Given the description of an element on the screen output the (x, y) to click on. 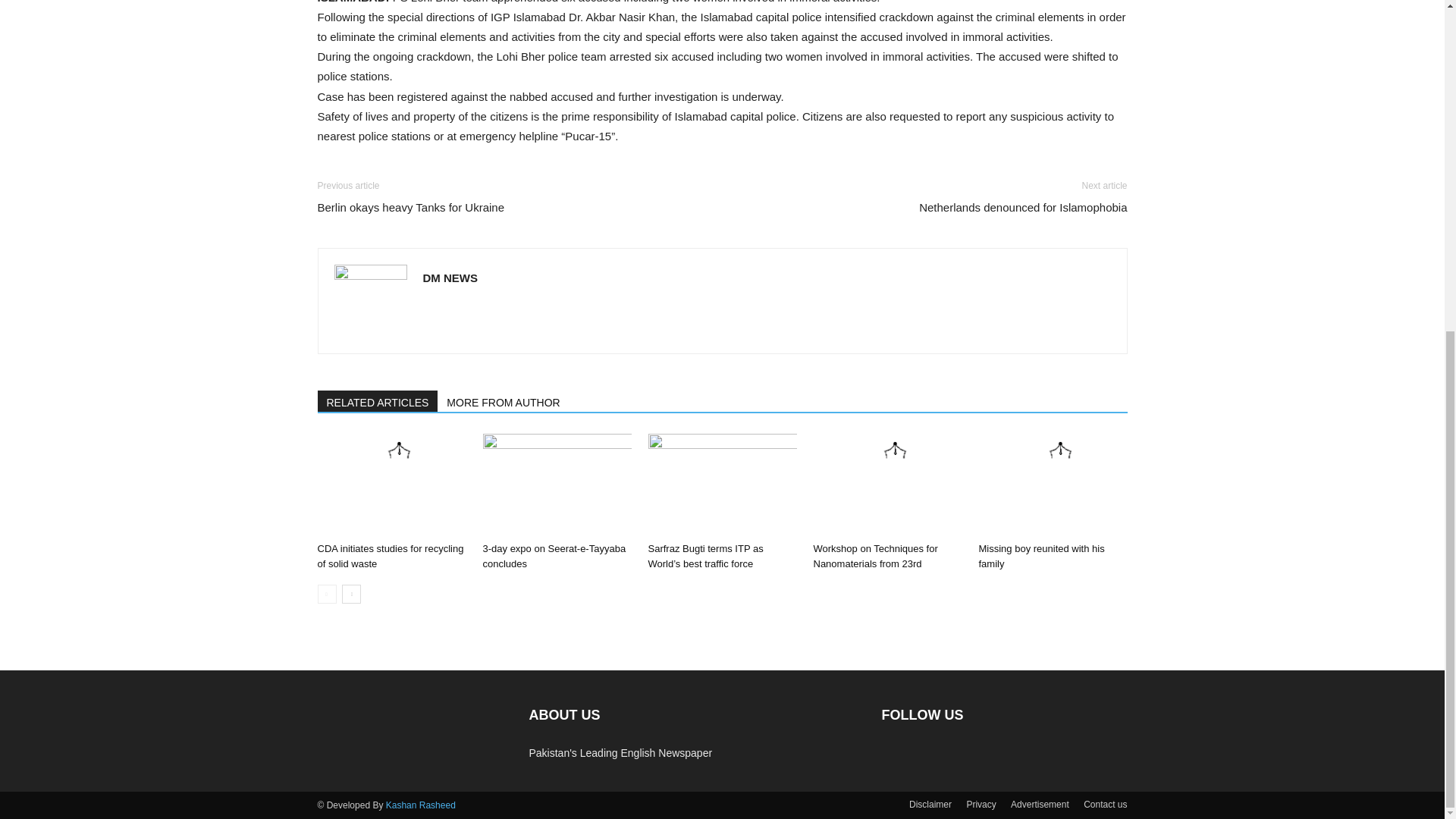
CDA initiates studies for recycling of solid waste (391, 485)
Workshop on Techniques for Nanomaterials from 23rd (874, 555)
Missing boy reunited with his family (1052, 485)
3-day expo on Seerat-e-Tayyaba concludes (553, 555)
3-day expo on Seerat-e-Tayyaba concludes (555, 485)
CDA initiates studies for recycling of solid waste (390, 555)
Workshop on Techniques for Nanomaterials from 23rd (886, 485)
